Given the description of an element on the screen output the (x, y) to click on. 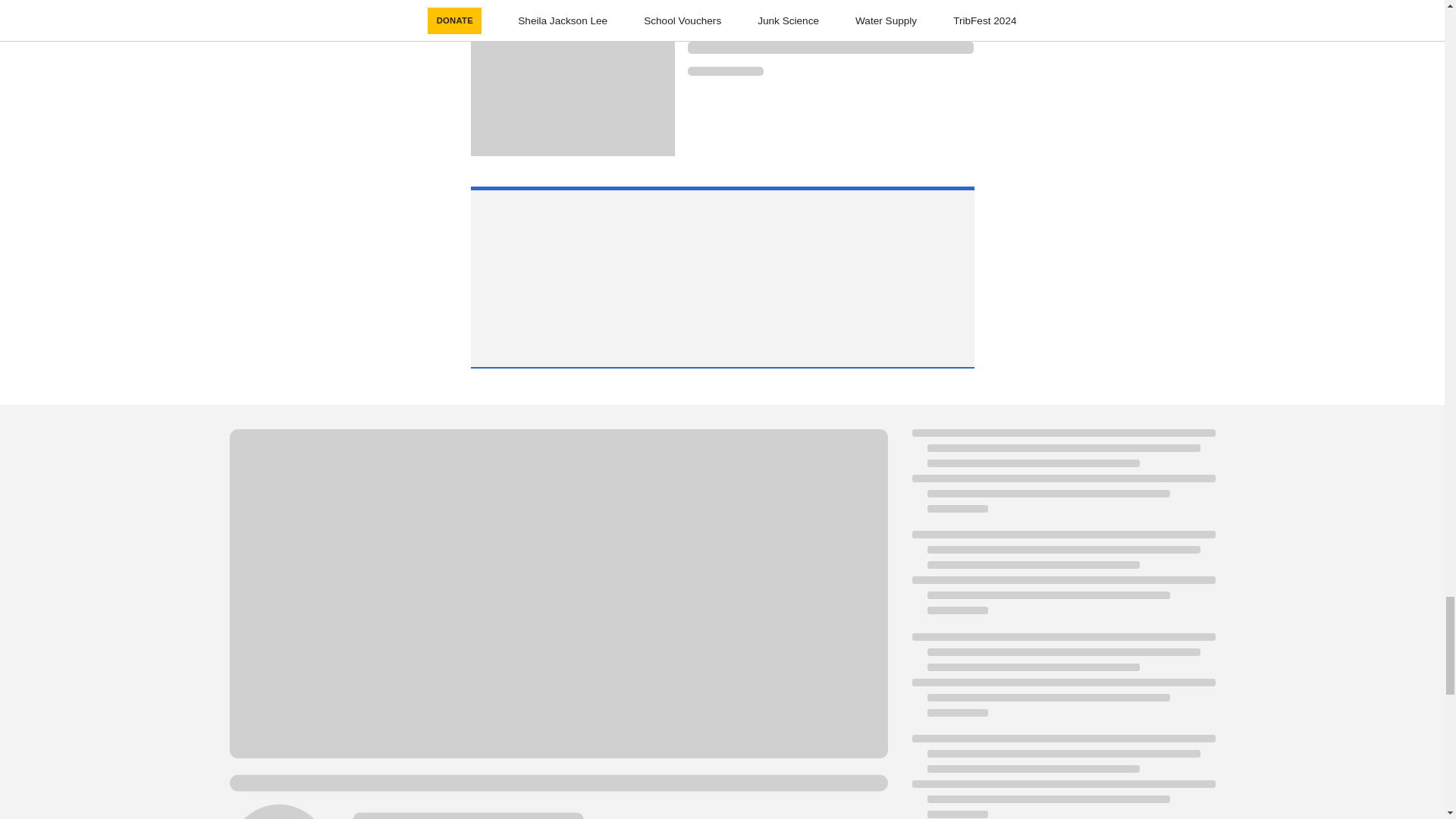
Loading indicator (830, 47)
Loading indicator (830, 25)
Loading indicator (724, 71)
